Given the description of an element on the screen output the (x, y) to click on. 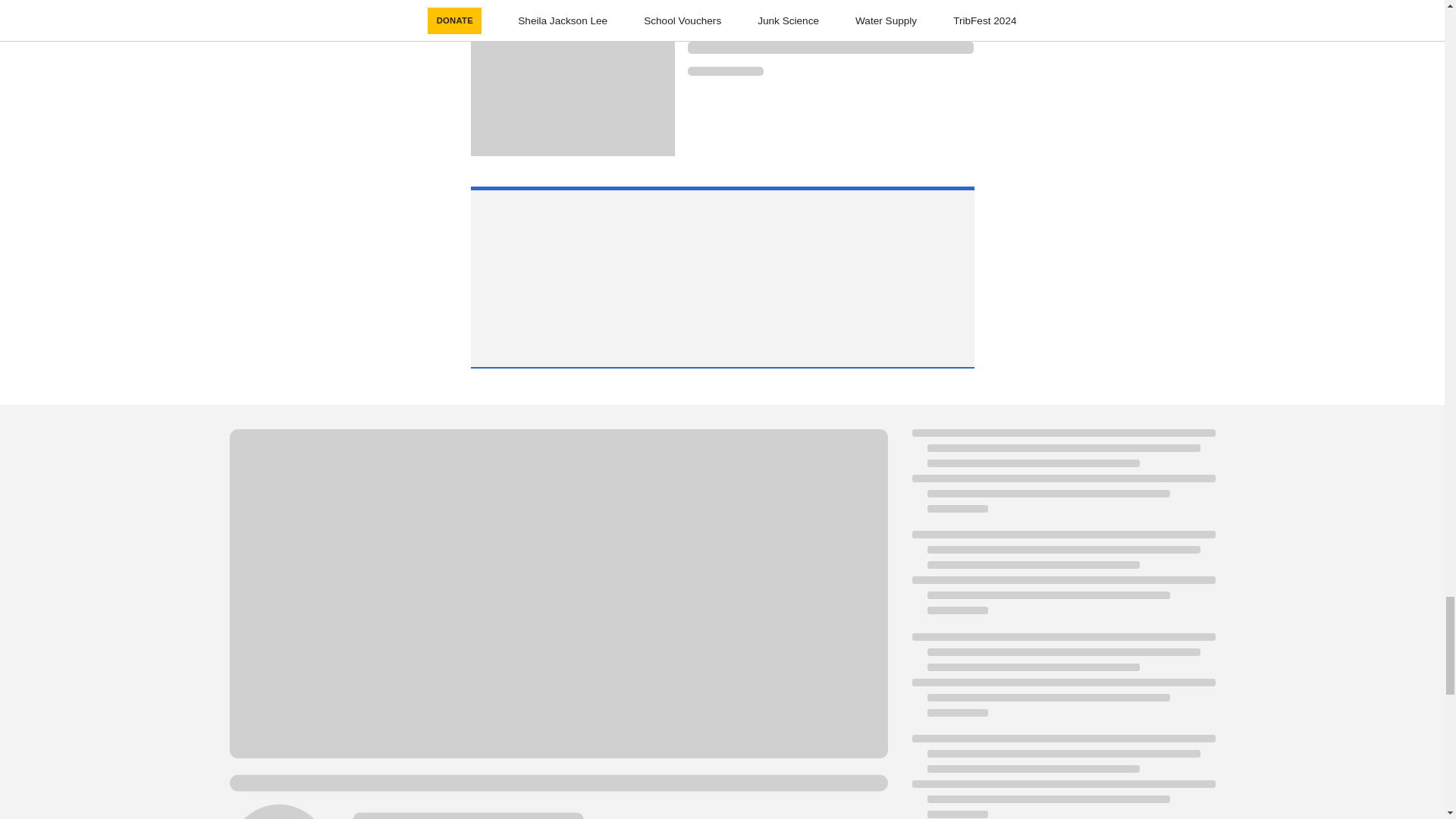
Loading indicator (830, 47)
Loading indicator (830, 25)
Loading indicator (724, 71)
